Given the description of an element on the screen output the (x, y) to click on. 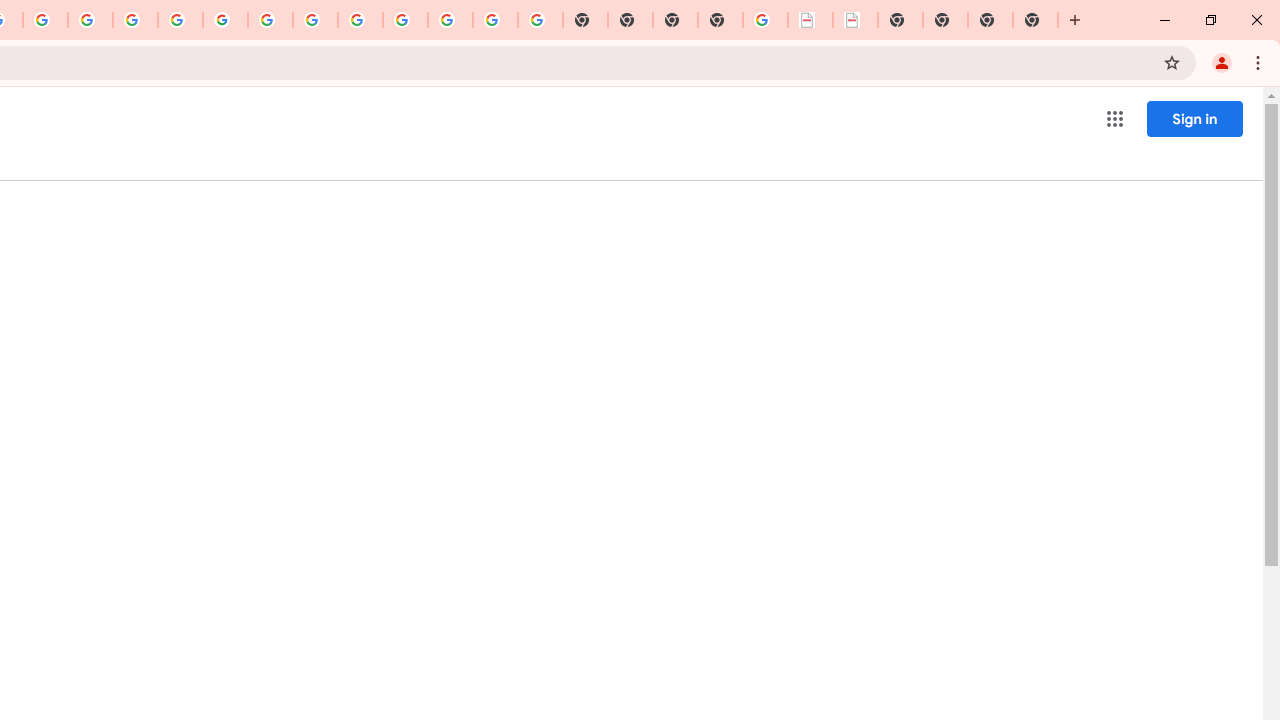
LAAD Defence & Security 2025 | BAE Systems (810, 20)
New Tab (720, 20)
Privacy Help Center - Policies Help (89, 20)
YouTube (270, 20)
BAE Systems Brasil | BAE Systems (855, 20)
Google Images (540, 20)
